Given the description of an element on the screen output the (x, y) to click on. 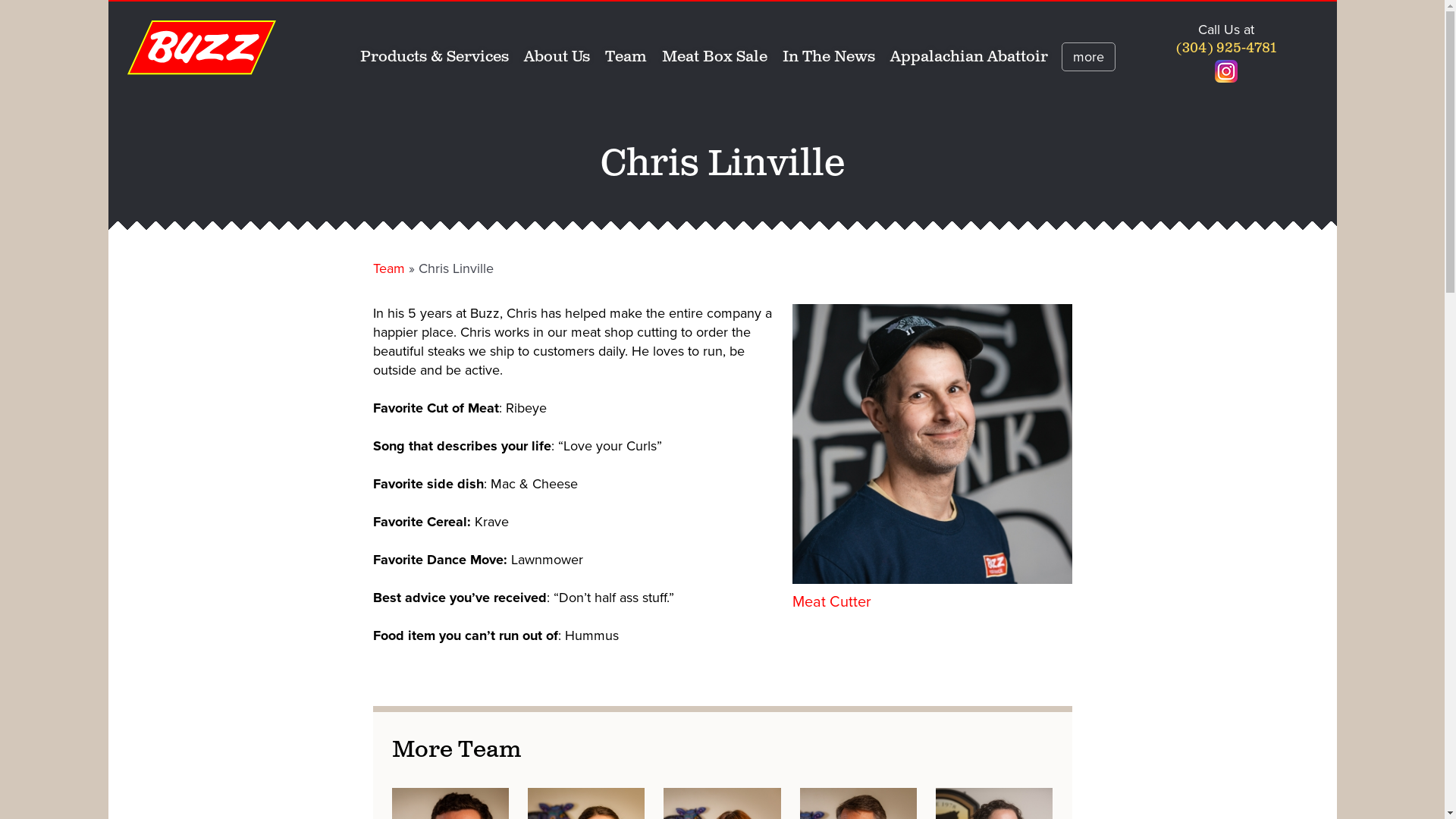
(304) 925-4781 Element type: text (1226, 48)
About Us Element type: text (556, 57)
more Element type: text (1088, 56)
Appalachian Abattoir Element type: text (969, 57)
Team Element type: text (625, 57)
Buzz Food Service Element type: text (201, 47)
Products & Services Element type: text (434, 57)
Meat Box Sale Element type: text (714, 57)
In The News Element type: text (828, 57)
Team Element type: text (388, 268)
